Given the description of an element on the screen output the (x, y) to click on. 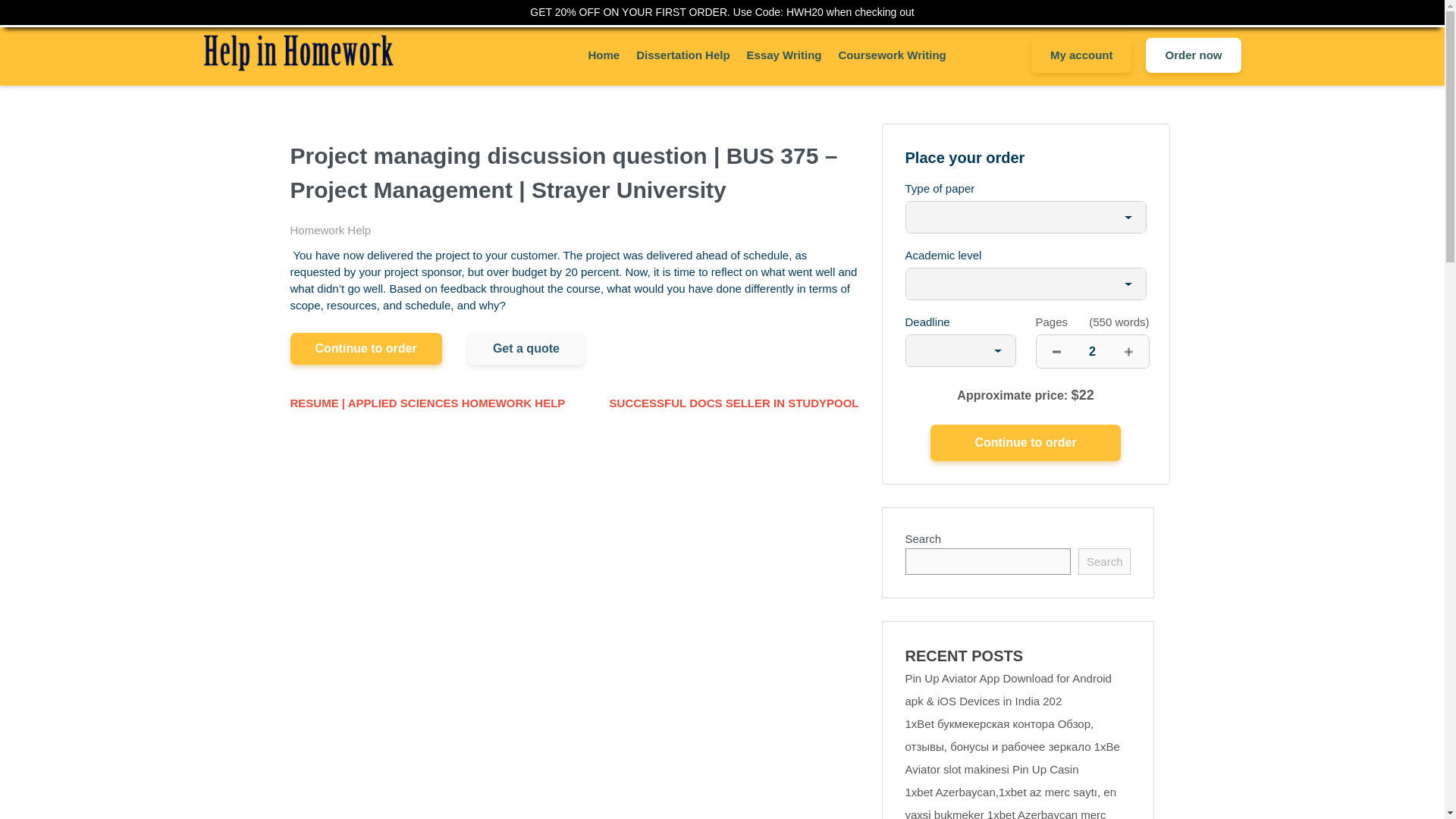
Get a quote (526, 348)
Search (1104, 560)
Continue to order (1024, 443)
Essay Writing (784, 55)
Continue to order (1024, 443)
My account (1081, 54)
Coursework Writing (891, 55)
Dissertation Help (682, 55)
SUCCESSFUL DOCS SELLER IN STUDYPOOL (734, 403)
Home (604, 55)
Aviator slot makinesi Pin Up Casin (991, 768)
Homework Help (330, 229)
Order now (1192, 54)
Continue to order (365, 348)
2 (1091, 350)
